Given the description of an element on the screen output the (x, y) to click on. 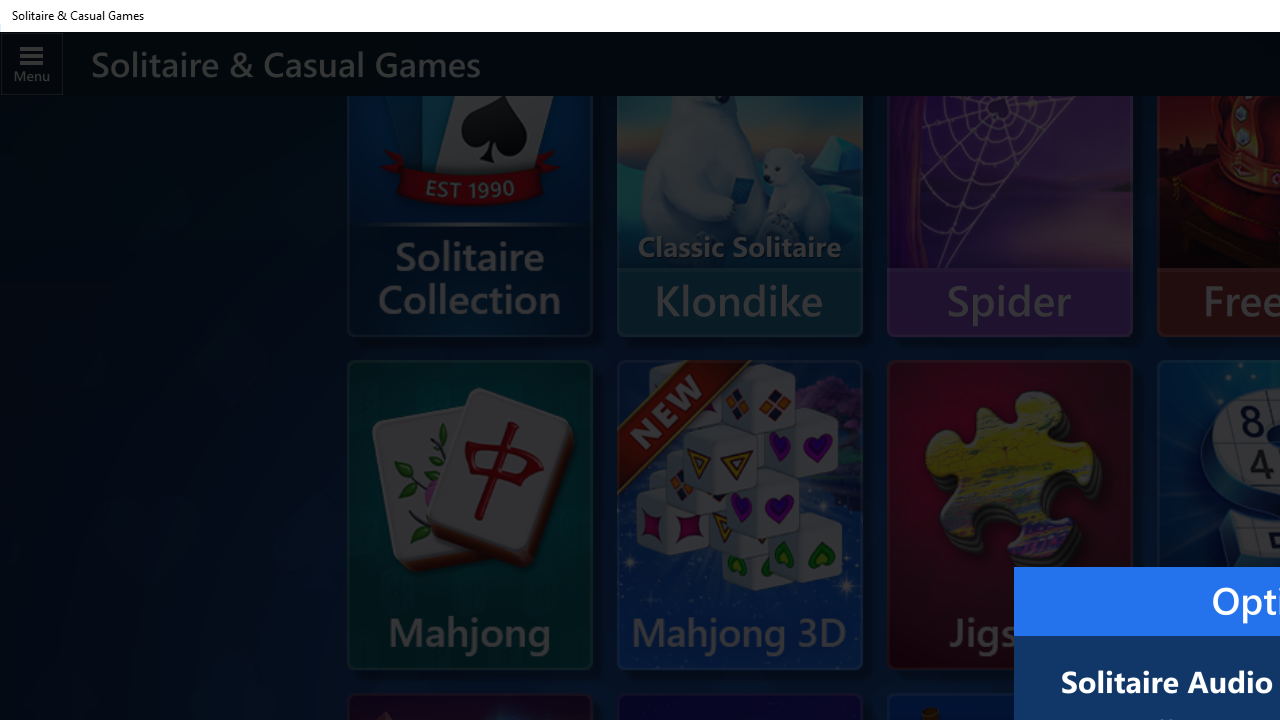
Classic Solitaire, Klondike (739, 181)
Menu (32, 63)
Microsoft Mahjong (469, 515)
Microsoft Solitaire Collection (469, 211)
Mahjong 3D (739, 515)
Spider (1009, 181)
Microsoft Jigsaw (1009, 509)
